Given the description of an element on the screen output the (x, y) to click on. 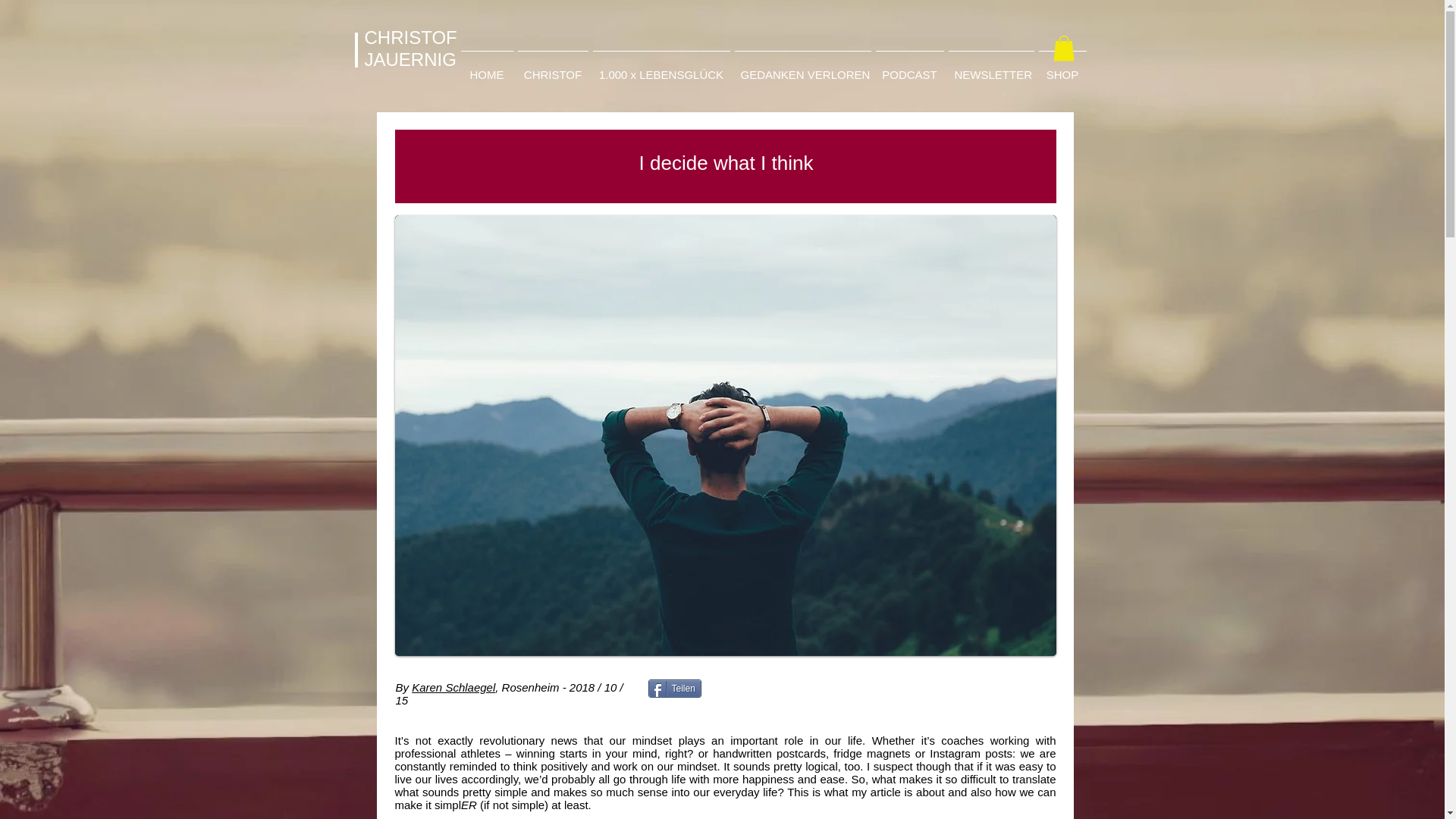
Teilen (673, 688)
SHOP (1061, 67)
Karen Schlaegel (453, 686)
Teilen (673, 688)
HOME (486, 67)
PODCAST (909, 67)
